Given the description of an element on the screen output the (x, y) to click on. 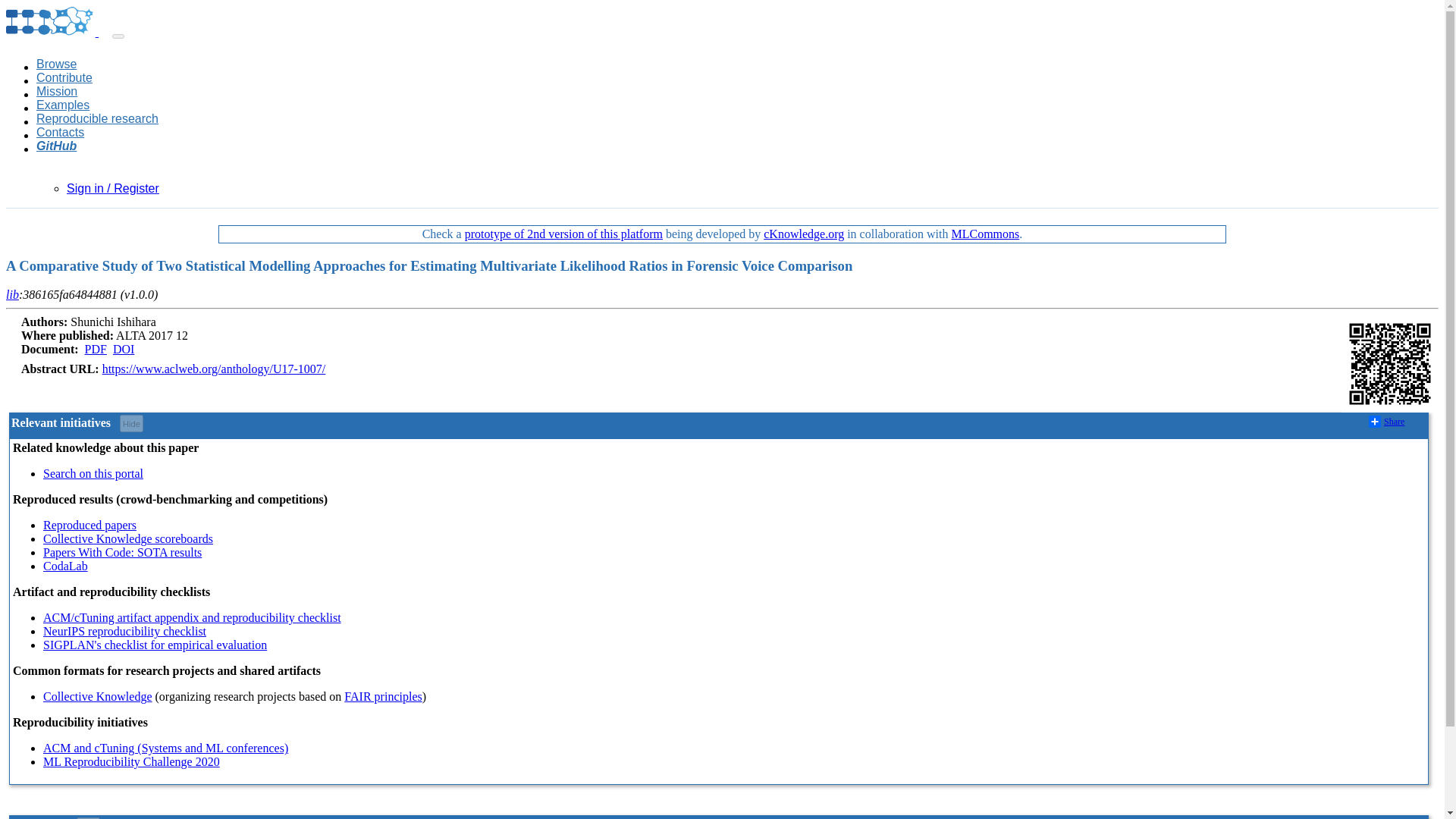
ML Reproducibility Challenge 2020 (131, 761)
Hide (130, 423)
DOI (123, 349)
Mission (56, 91)
cKnowledge.org (803, 233)
Reproducible research (97, 119)
Collective Knowledge (97, 696)
Share (1386, 421)
GitHub (56, 146)
FAIR principles (382, 696)
CodaLab (65, 565)
Collective Knowledge scoreboards (127, 538)
Papers With Code: SOTA results (122, 552)
NeurIPS reproducibility checklist (124, 631)
Hide (88, 818)
